Given the description of an element on the screen output the (x, y) to click on. 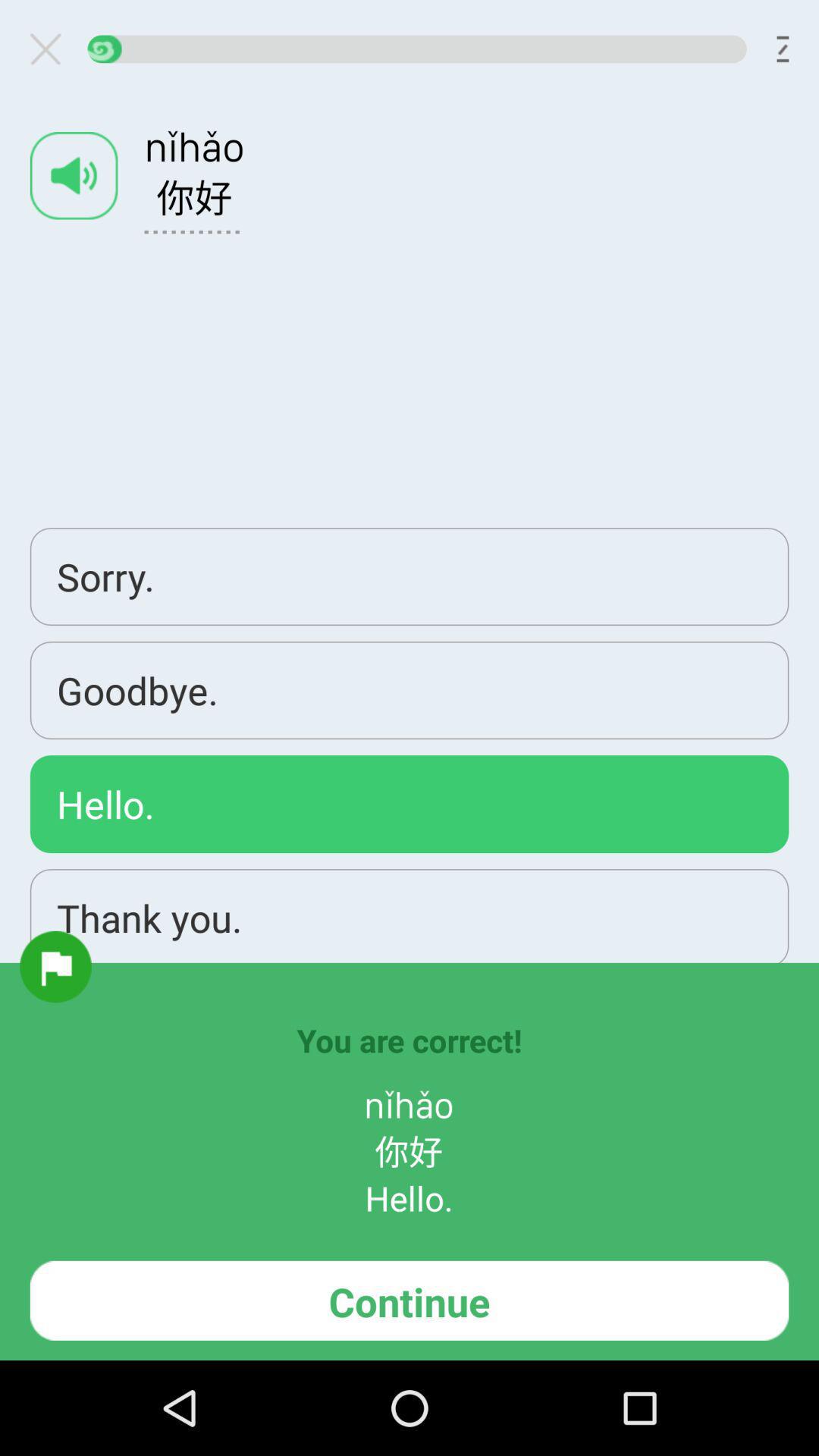
sound toggle (73, 175)
